Given the description of an element on the screen output the (x, y) to click on. 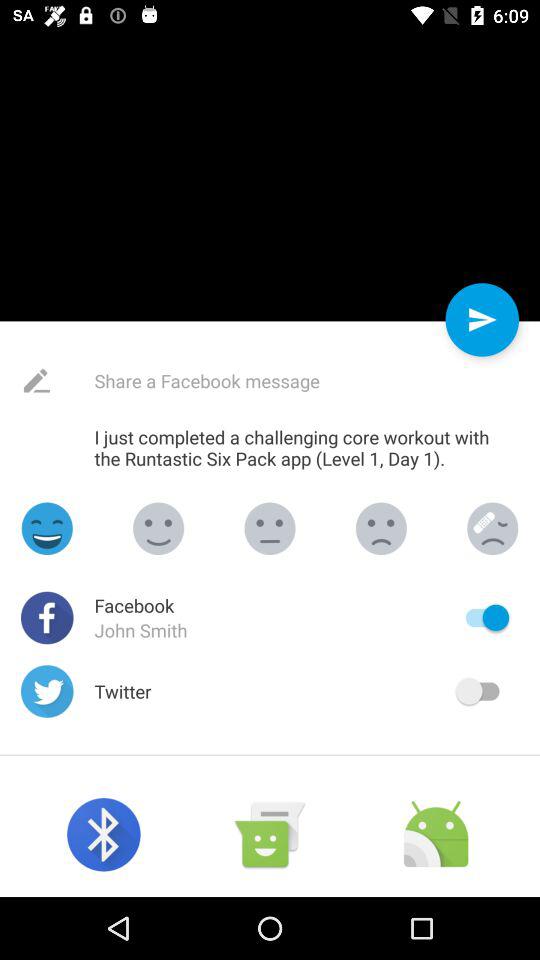
toggle sharing on twitter (482, 691)
